Given the description of an element on the screen output the (x, y) to click on. 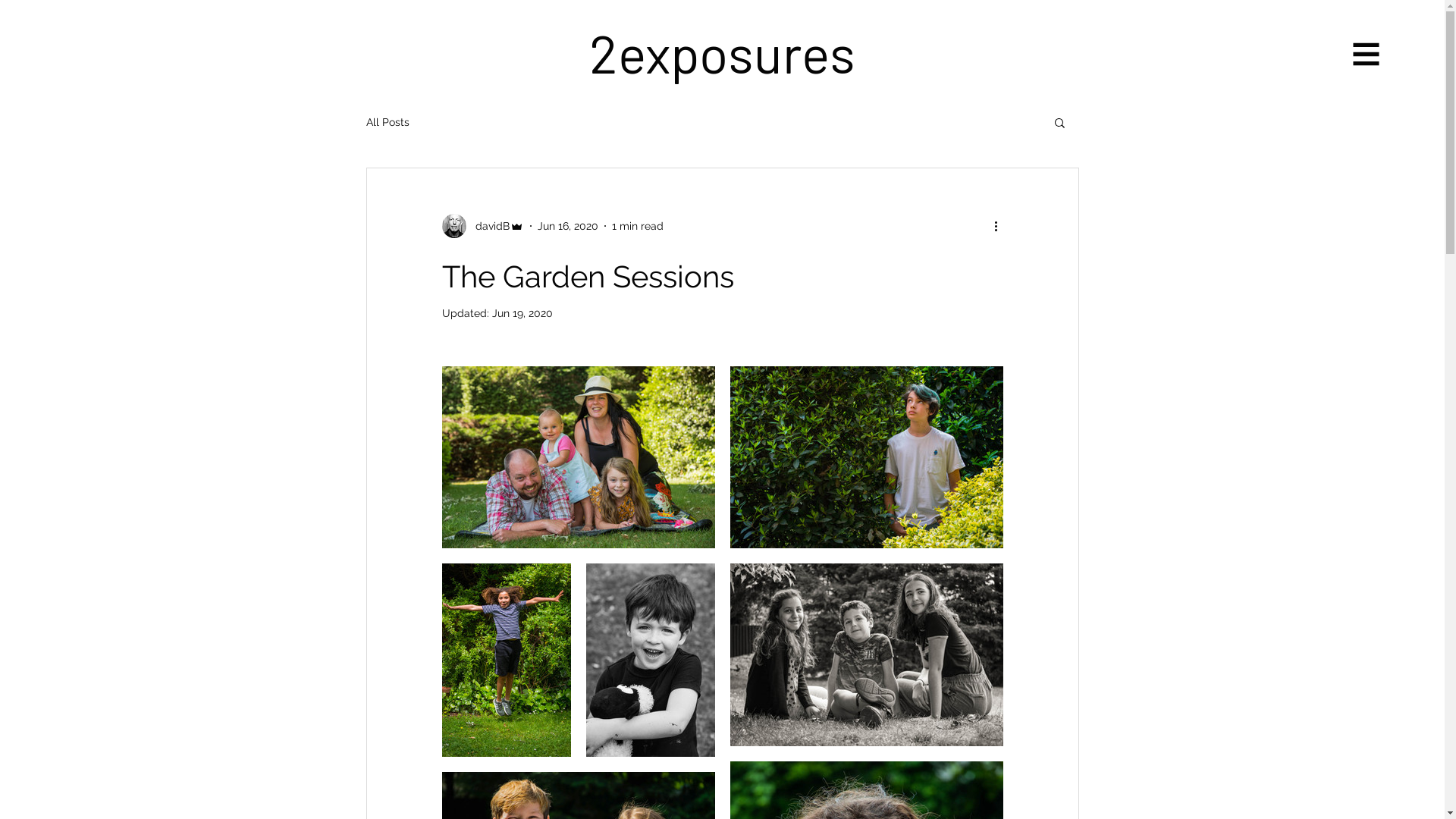
All Posts Element type: text (386, 122)
2exposures Element type: text (721, 52)
